Given the description of an element on the screen output the (x, y) to click on. 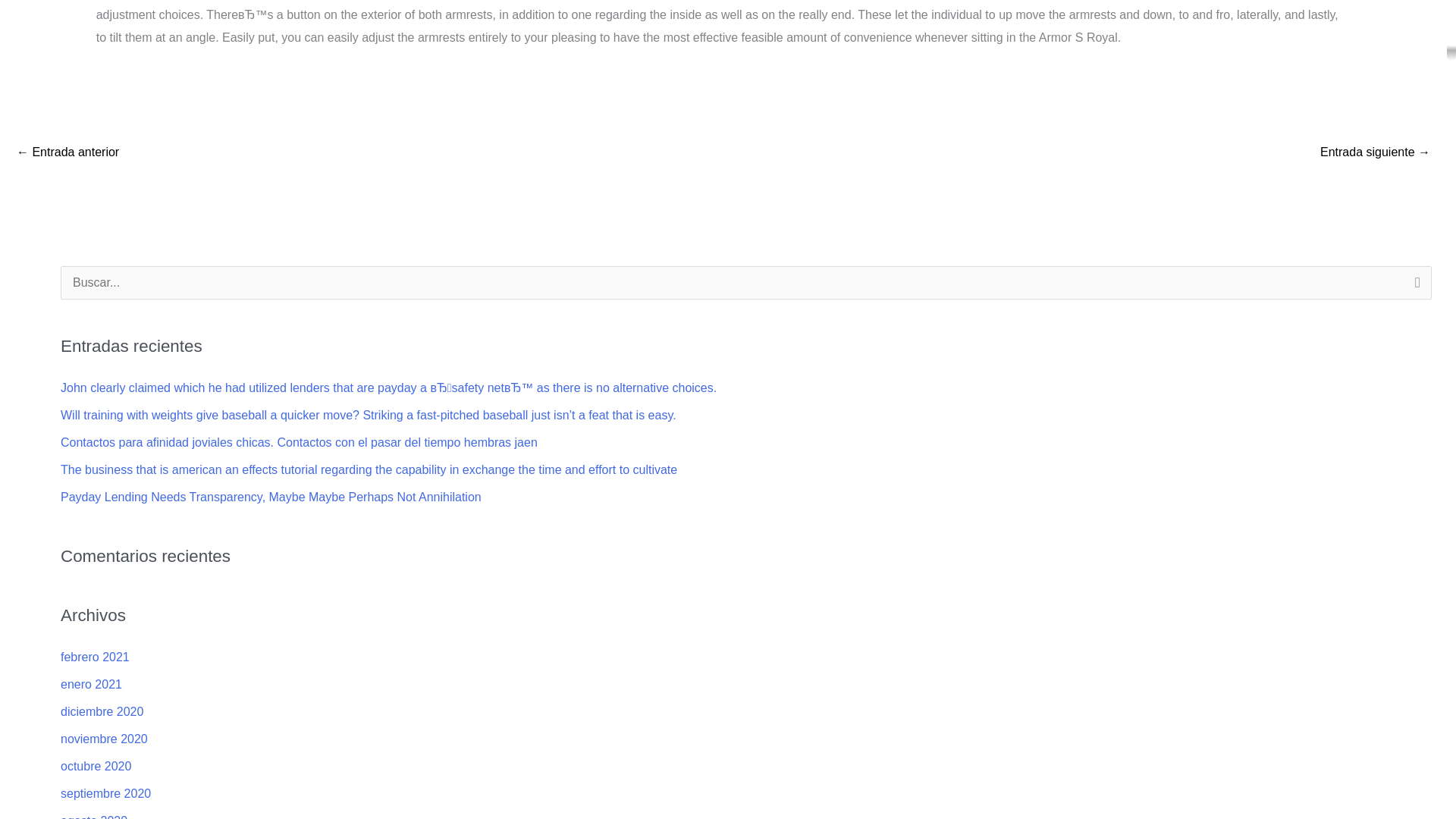
noviembre 2020 (104, 738)
enero 2021 (91, 684)
febrero 2021 (95, 656)
octubre 2020 (96, 766)
diciembre 2020 (101, 711)
septiembre 2020 (106, 793)
